Given the description of an element on the screen output the (x, y) to click on. 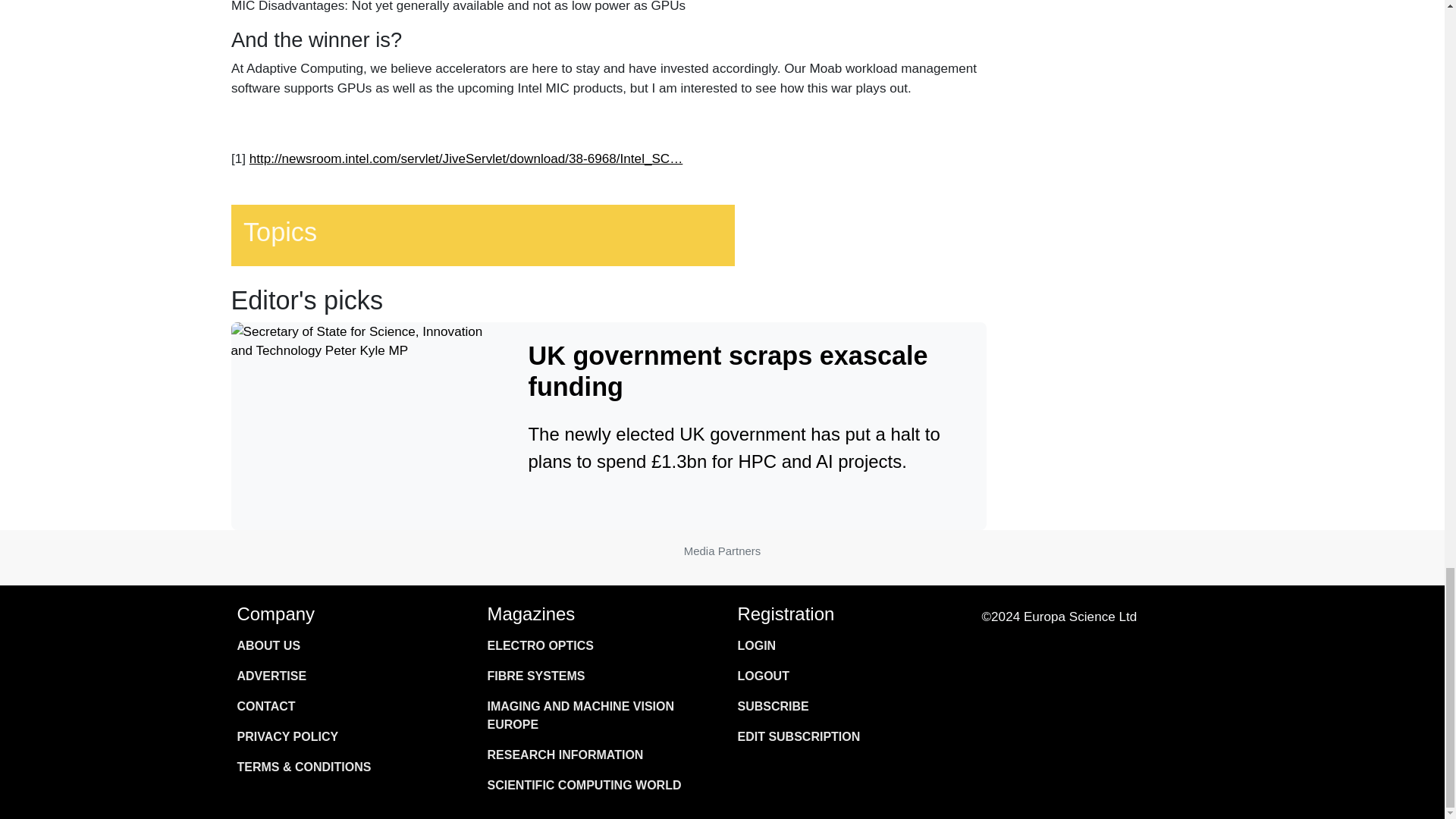
CONTACT (346, 706)
ABOUT US (346, 645)
ADVERTISE (346, 675)
PRIVACY POLICY (346, 736)
